Given the description of an element on the screen output the (x, y) to click on. 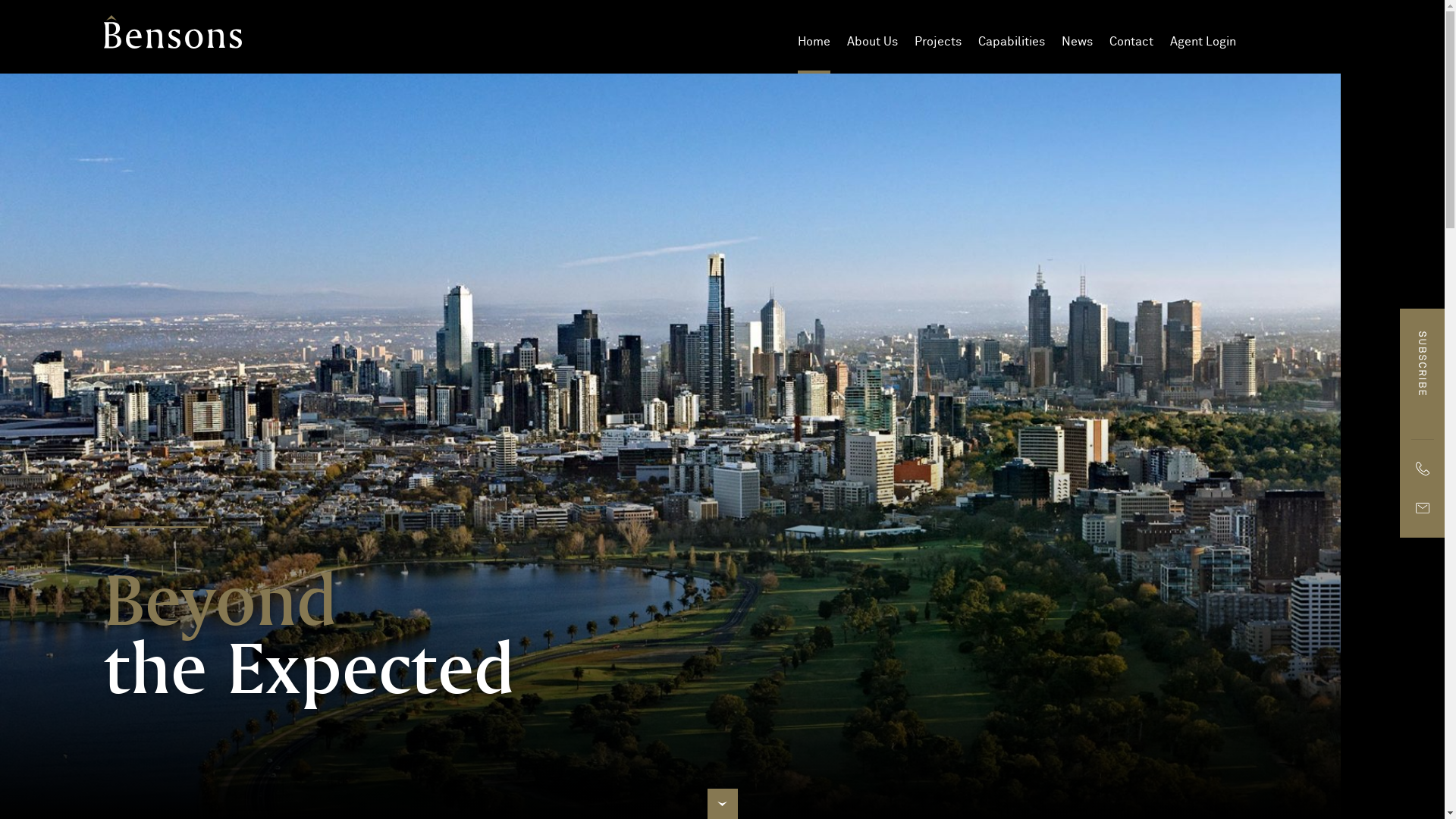
Home Element type: text (813, 41)
Contact Element type: text (1131, 41)
Capabilities Element type: text (1011, 41)
Agent Login Element type: text (1203, 41)
News Element type: text (1076, 41)
About Us Element type: text (872, 41)
Projects Element type: text (937, 41)
